Given the description of an element on the screen output the (x, y) to click on. 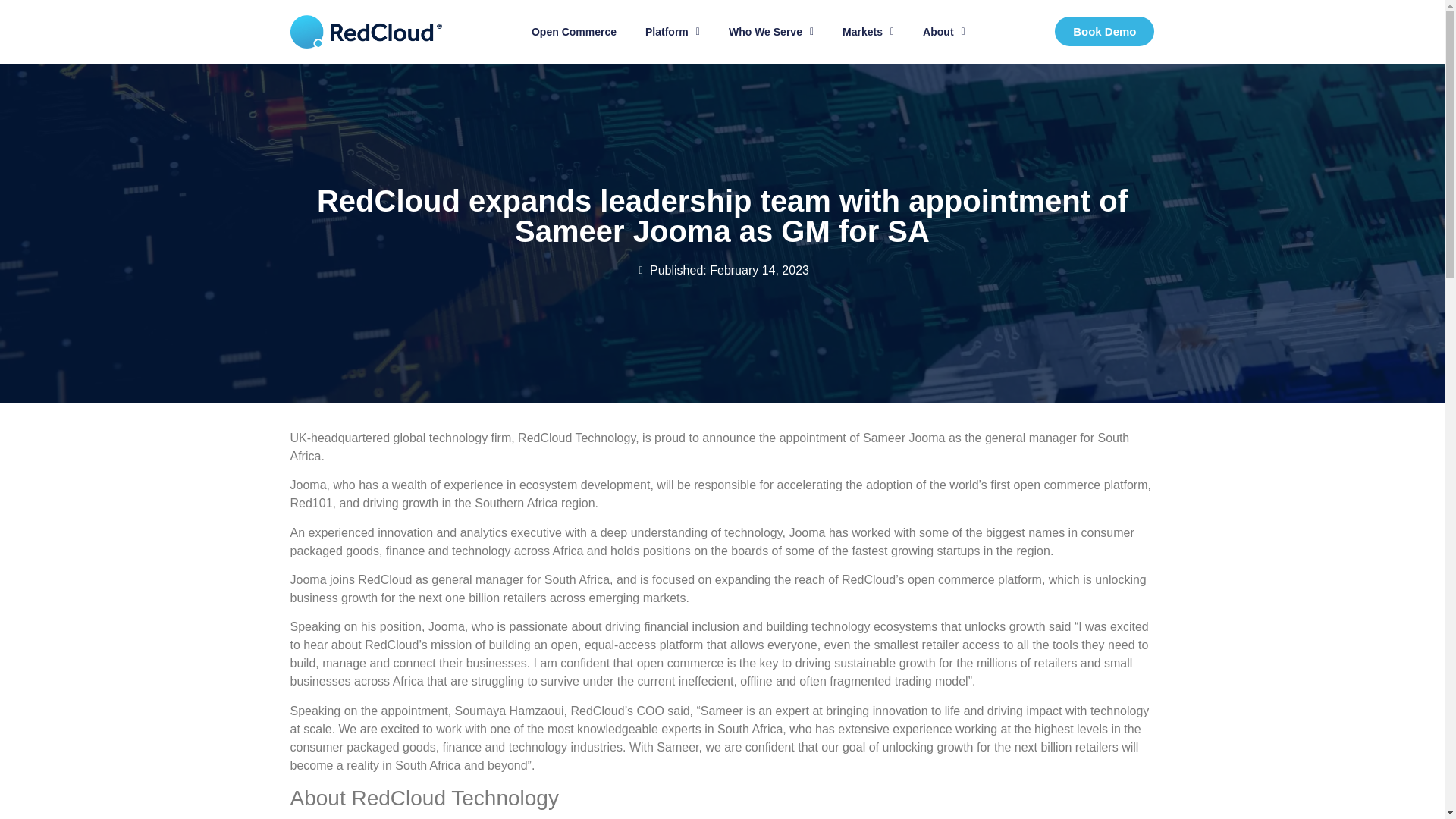
Who We Serve (771, 31)
Markets (868, 31)
Platform (672, 31)
Open Commerce (573, 31)
About (944, 31)
